Given the description of an element on the screen output the (x, y) to click on. 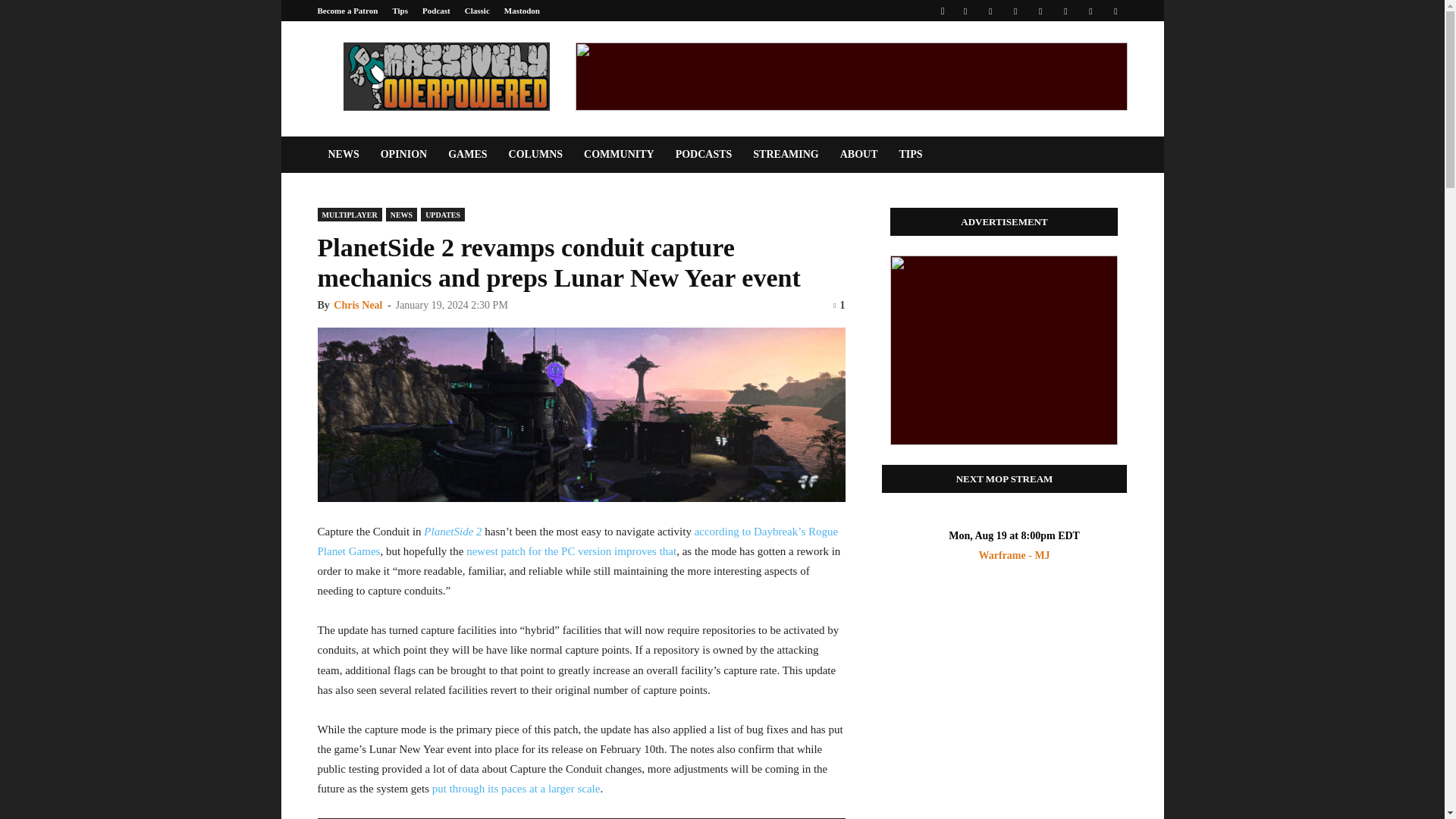
Youtube (1114, 10)
MassivelyOP.com (445, 76)
RSS (1040, 10)
Paypal (1015, 10)
Twitch (1065, 10)
Patreon (989, 10)
Twitter (1090, 10)
Facebook (964, 10)
